Given the description of an element on the screen output the (x, y) to click on. 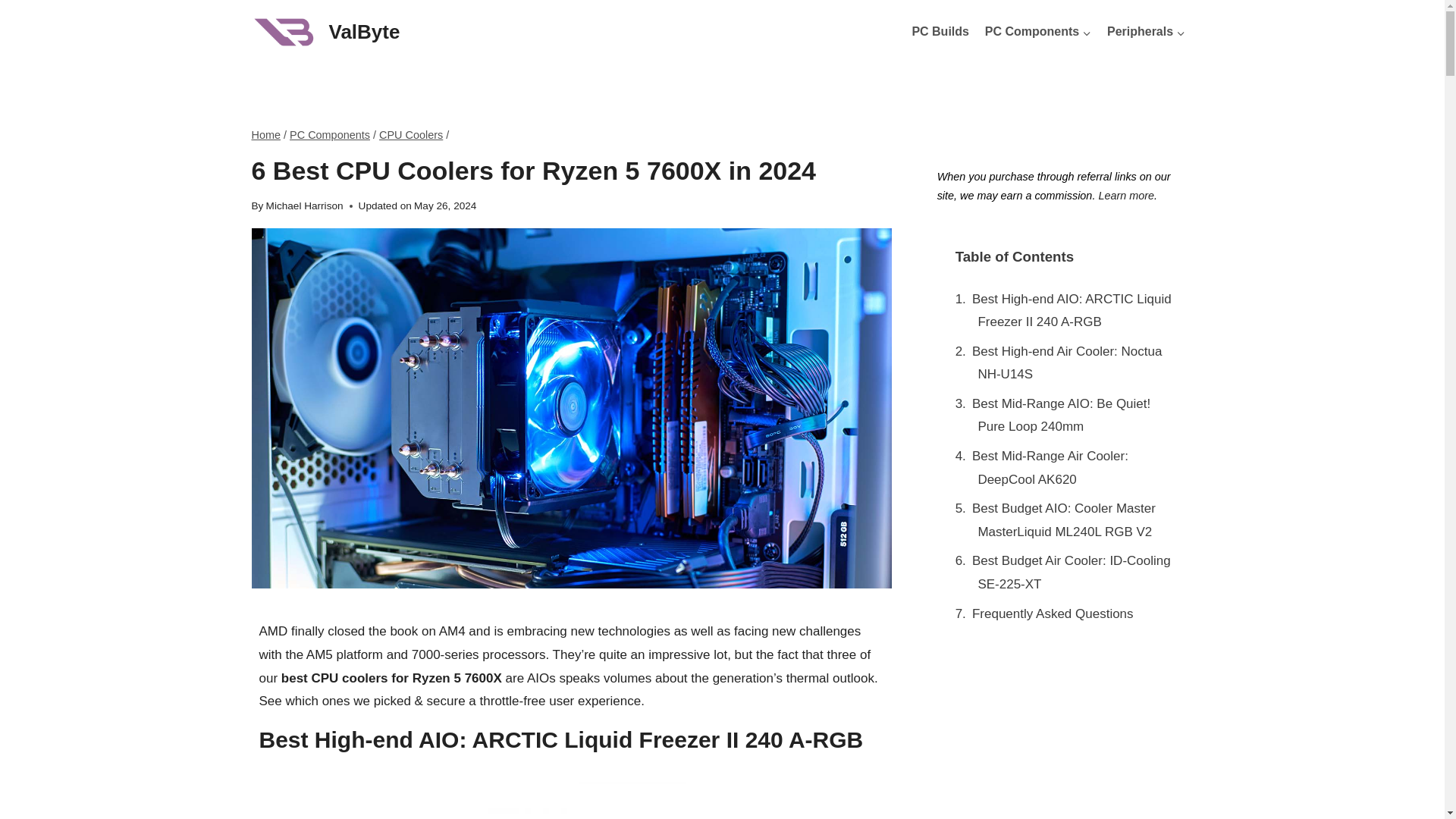
PC Components (1037, 31)
Peripherals (1146, 31)
PC Builds (940, 31)
CPU Coolers (410, 134)
ValByte (325, 32)
PC Components (329, 134)
Home (266, 134)
Michael Harrison (304, 205)
